Given the description of an element on the screen output the (x, y) to click on. 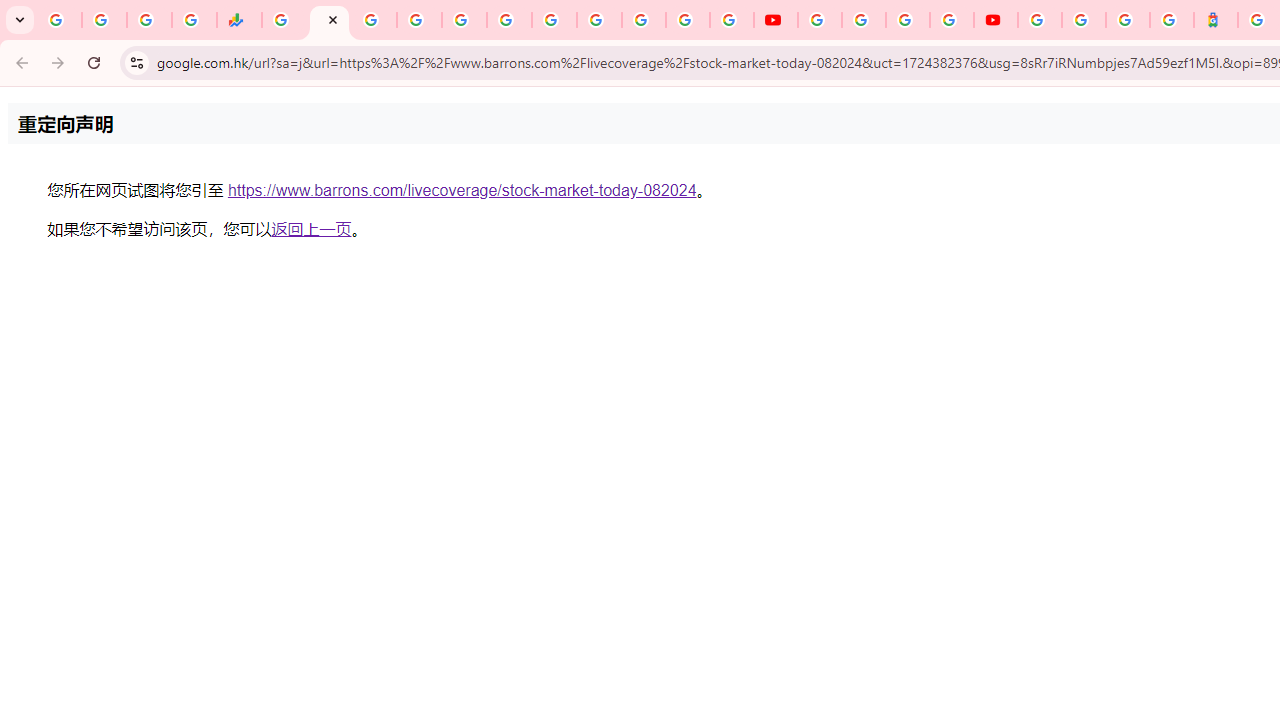
YouTube (775, 20)
Content Creator Programs & Opportunities - YouTube Creators (995, 20)
Sign in - Google Accounts (418, 20)
Privacy Checkup (731, 20)
Google Account Help (863, 20)
Sign in - Google Accounts (1083, 20)
